Given the description of an element on the screen output the (x, y) to click on. 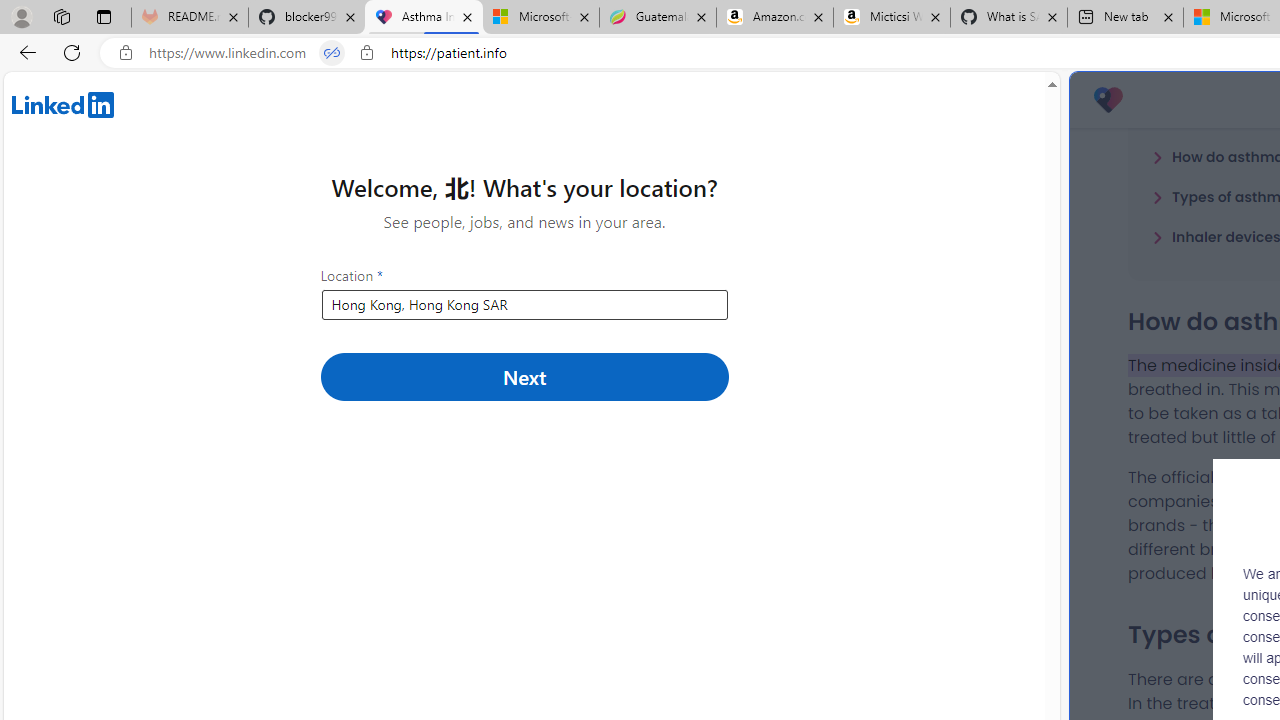
Asthma Inhalers: Names and Types (424, 17)
Microsoft-Report a Concern to Bing (540, 17)
New tab (1124, 17)
Workspaces (61, 16)
Personal Profile (21, 16)
Patient 3.0 (1108, 100)
